Given the description of an element on the screen output the (x, y) to click on. 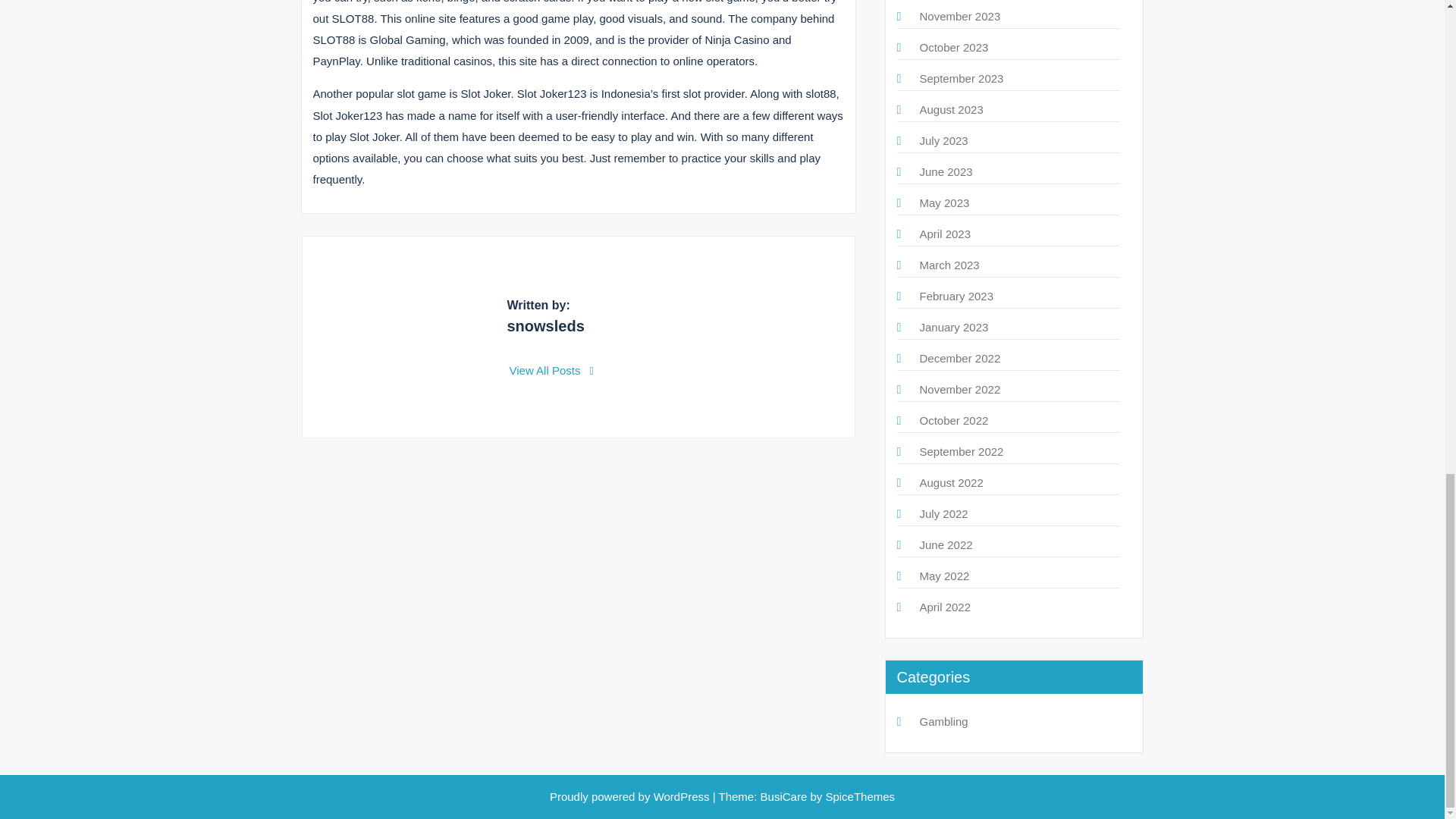
July 2023 (943, 140)
October 2022 (953, 420)
September 2023 (960, 78)
February 2023 (955, 295)
June 2023 (945, 171)
August 2022 (950, 481)
March 2023 (948, 264)
August 2023 (950, 109)
July 2022 (943, 513)
November 2023 (959, 15)
